Given the description of an element on the screen output the (x, y) to click on. 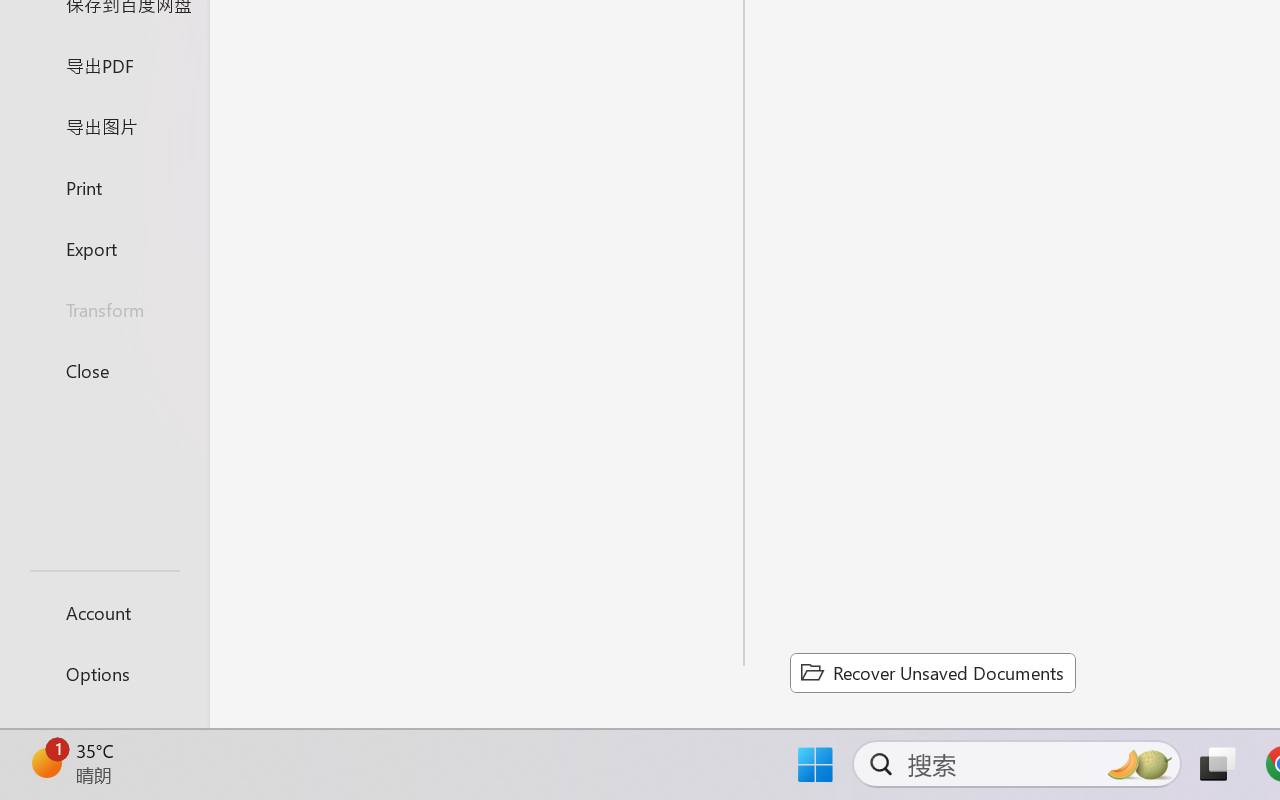
Options (104, 673)
Print (104, 186)
Transform (104, 309)
Export (104, 248)
Recover Unsaved Documents (932, 672)
Account (104, 612)
